Given the description of an element on the screen output the (x, y) to click on. 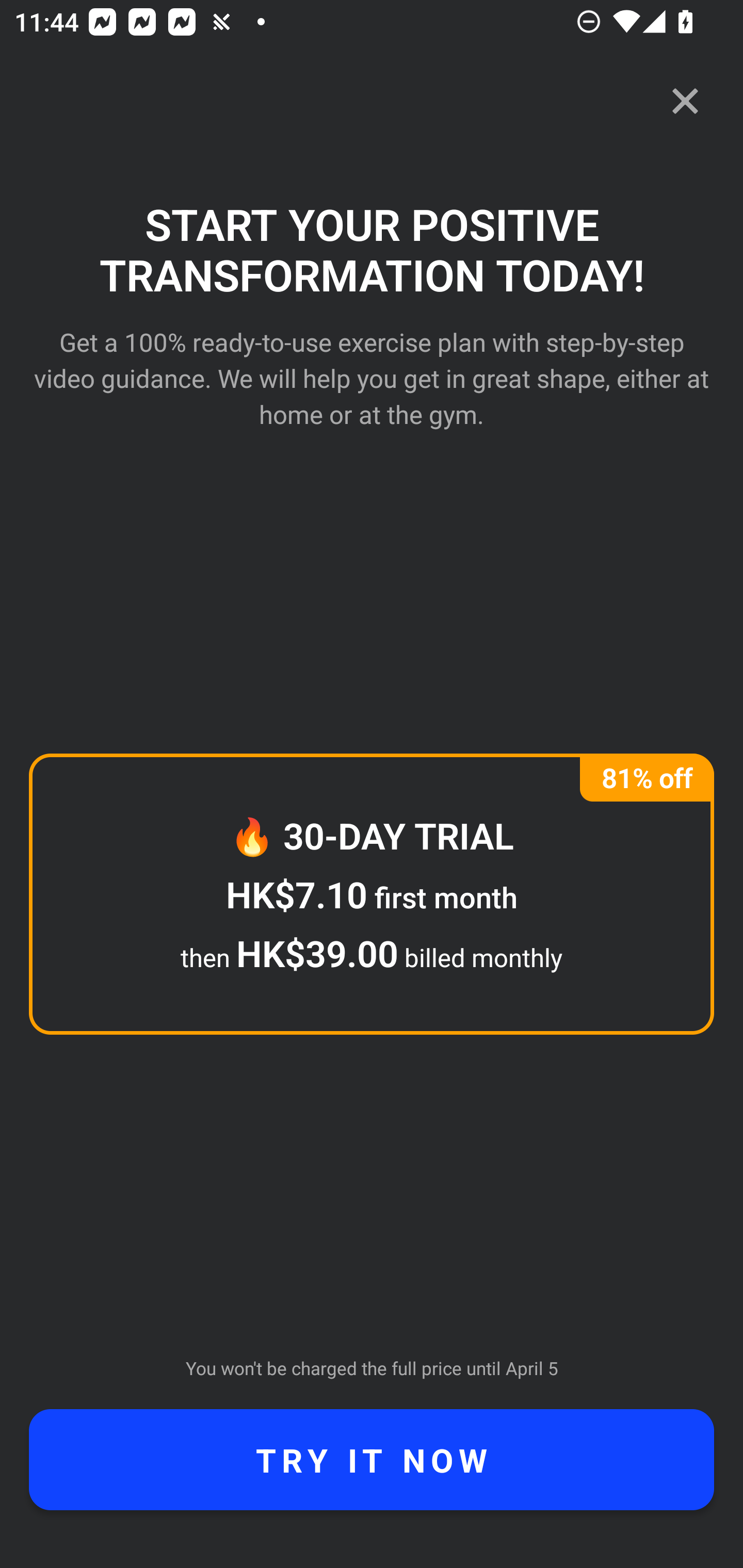
Close (684, 101)
TRY IT NOW (371, 1459)
